Given the description of an element on the screen output the (x, y) to click on. 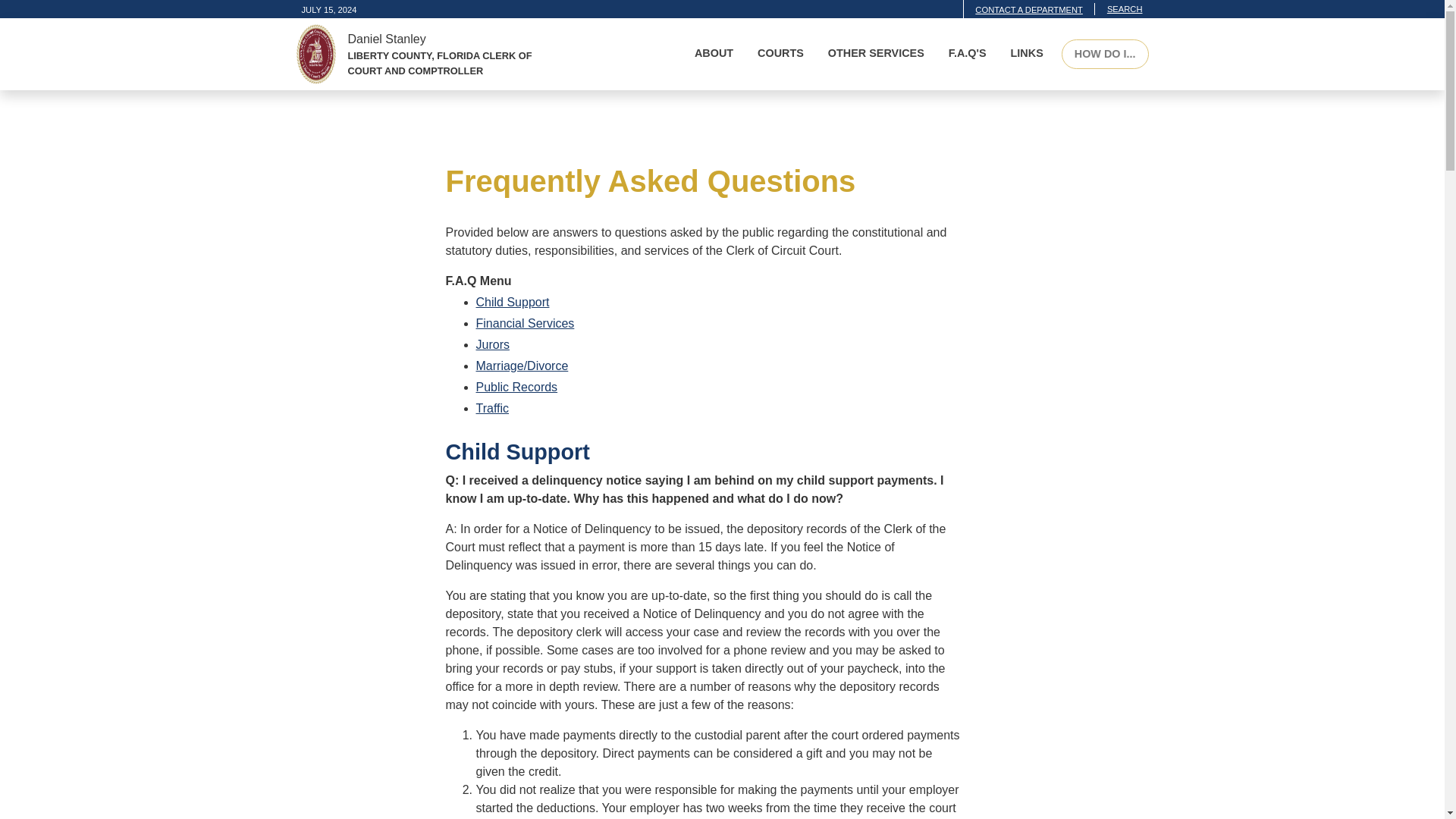
ABOUT (713, 53)
Traffic (492, 408)
CONTACT A DEPARTMENT (1029, 9)
OTHER SERVICES (876, 53)
Financial Services (525, 323)
F.A.Q'S (967, 53)
LINKS (1026, 53)
COURTS (780, 53)
HOW DO I... (1104, 54)
Child Support (513, 301)
Jurors (492, 344)
Public Records (516, 386)
